Given the description of an element on the screen output the (x, y) to click on. 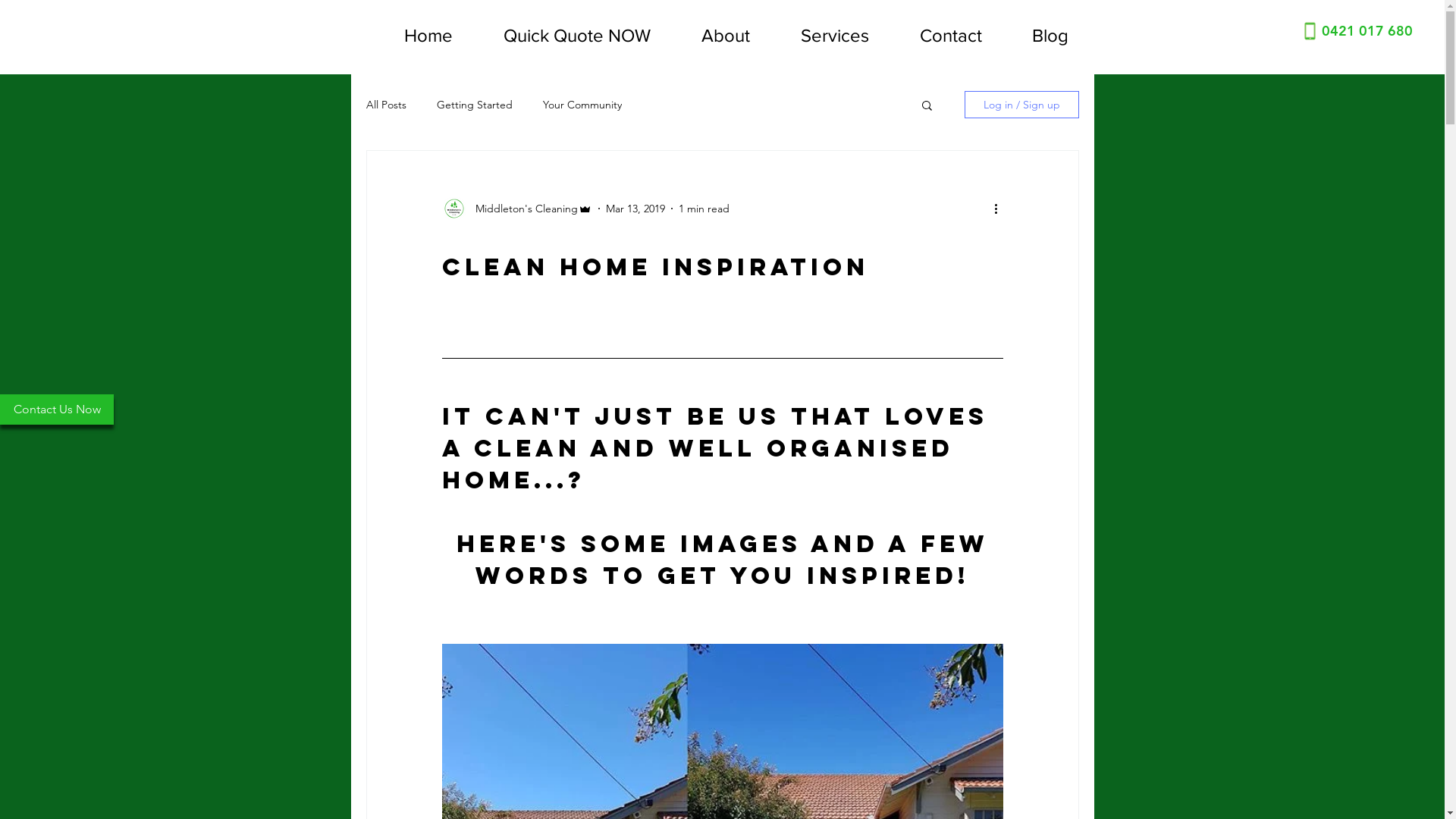
Blog Element type: text (1036, 35)
Home Element type: text (414, 35)
Services Element type: text (820, 35)
Getting Started Element type: text (474, 104)
Quick Quote NOW Element type: text (563, 35)
Contact Element type: text (936, 35)
Contact Us Now Element type: text (56, 409)
All Posts Element type: text (385, 104)
Your Community Element type: text (581, 104)
About Element type: text (711, 35)
Log in / Sign up Element type: text (1021, 104)
